Given the description of an element on the screen output the (x, y) to click on. 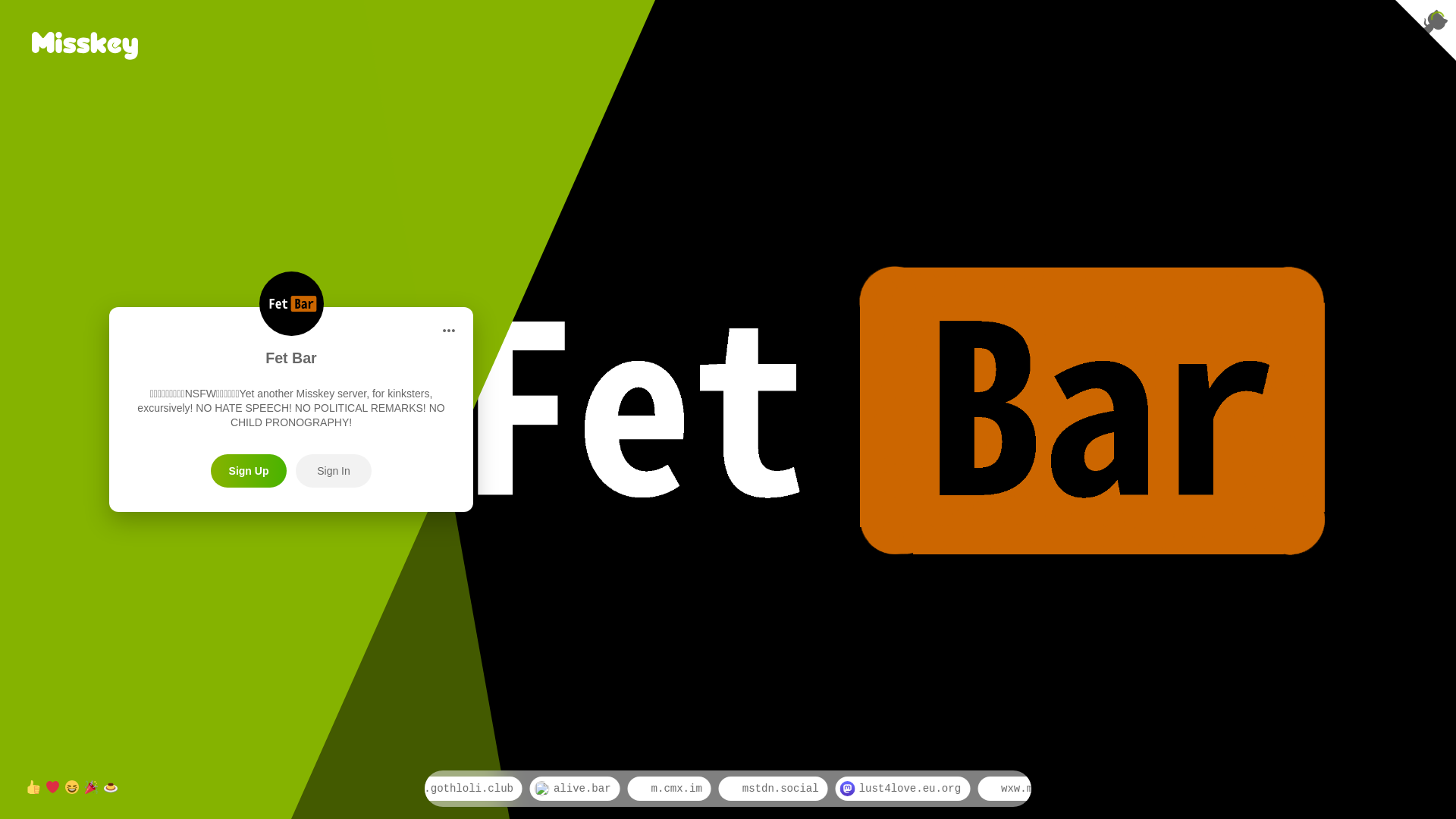
alive.bar Element type: text (663, 788)
mastodon.art Element type: text (1385, 788)
lust4love.eu.org Element type: text (987, 788)
Sign In Element type: text (333, 470)
o3o.ca Element type: text (1180, 788)
baraag.net Element type: text (390, 788)
mstdn.social Element type: text (859, 788)
wxw.moe Element type: text (1099, 788)
misskey.gothloli.club Element type: text (528, 788)
biplus.date Element type: text (1273, 788)
m.cmx.im Element type: text (756, 788)
Sign Up Element type: text (248, 470)
